Given the description of an element on the screen output the (x, y) to click on. 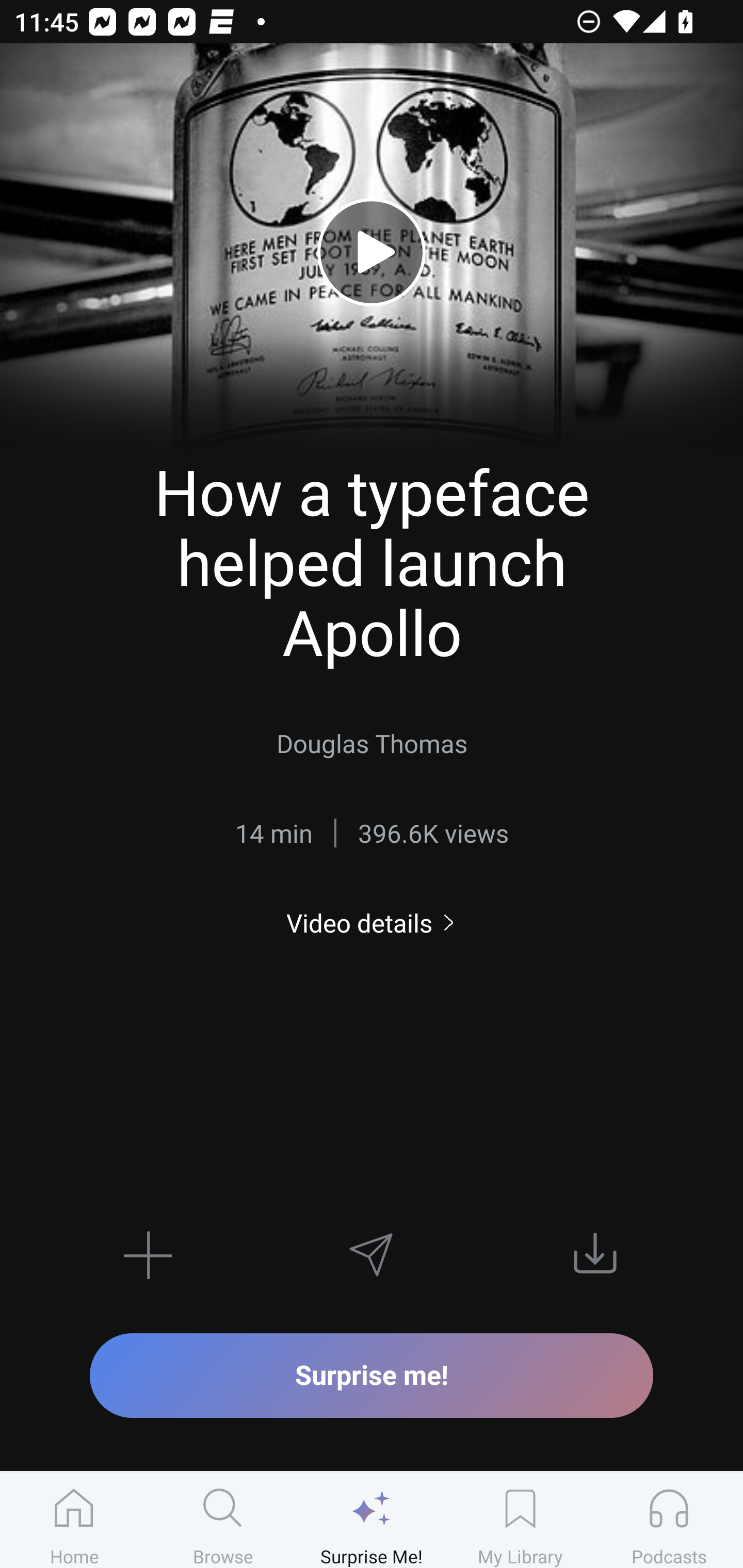
Video details (371, 922)
Surprise me! (371, 1374)
Home (74, 1520)
Browse (222, 1520)
Surprise Me! (371, 1520)
My Library (519, 1520)
Podcasts (668, 1520)
